Given the description of an element on the screen output the (x, y) to click on. 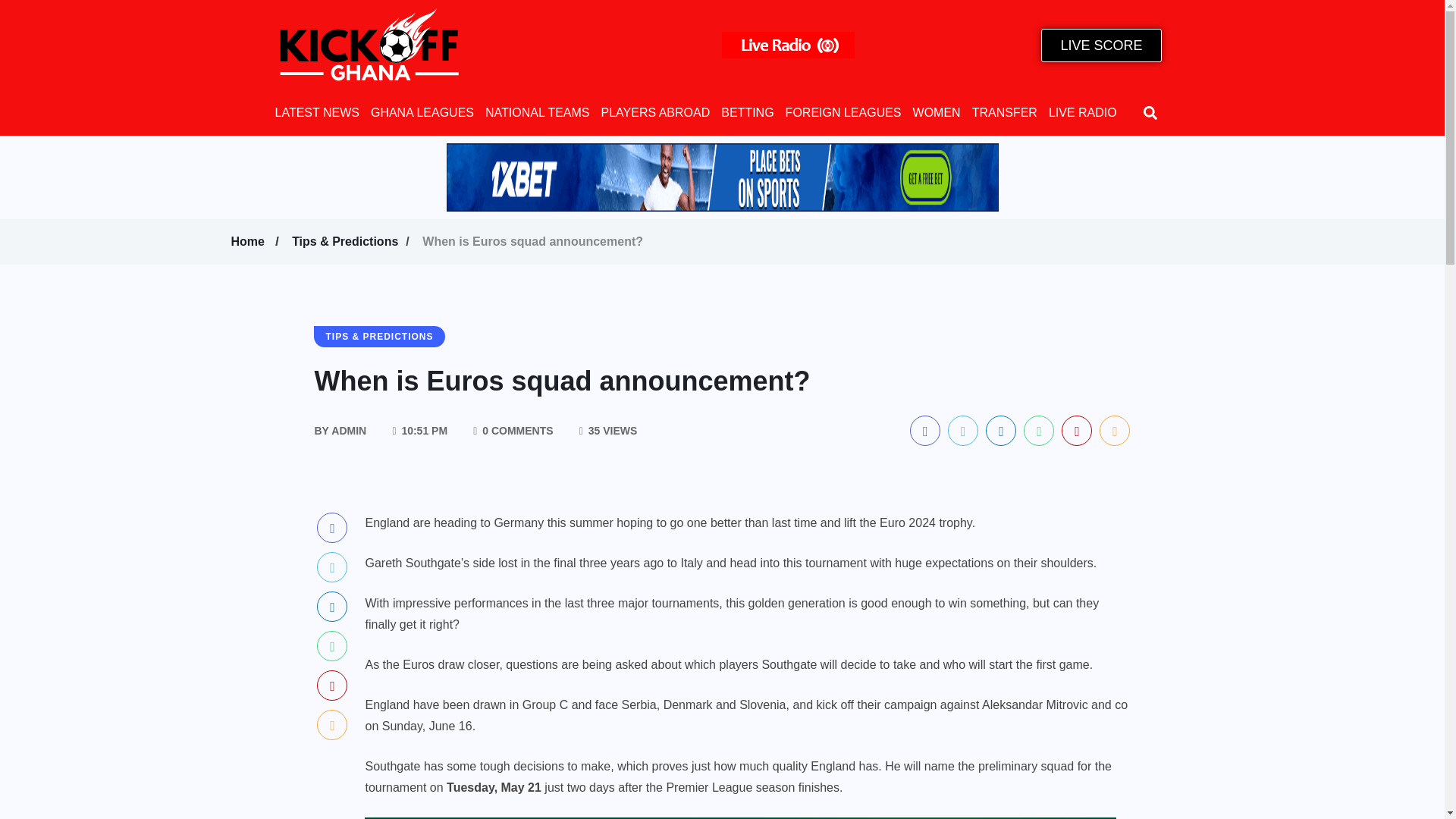
LIVE SCORE (1100, 45)
kickofghana-logo - Kickoffghana.com (369, 44)
GHANA LEAGUES (422, 112)
NATIONAL TEAMS (536, 112)
WOMEN (936, 112)
LIVE RADIO (1082, 112)
FOREIGN LEAGUES (843, 112)
62a9ed6cecfff682825408 - Kickoffghana.com (721, 177)
gsn-radio - Kickoffghana.com (788, 44)
